Given the description of an element on the screen output the (x, y) to click on. 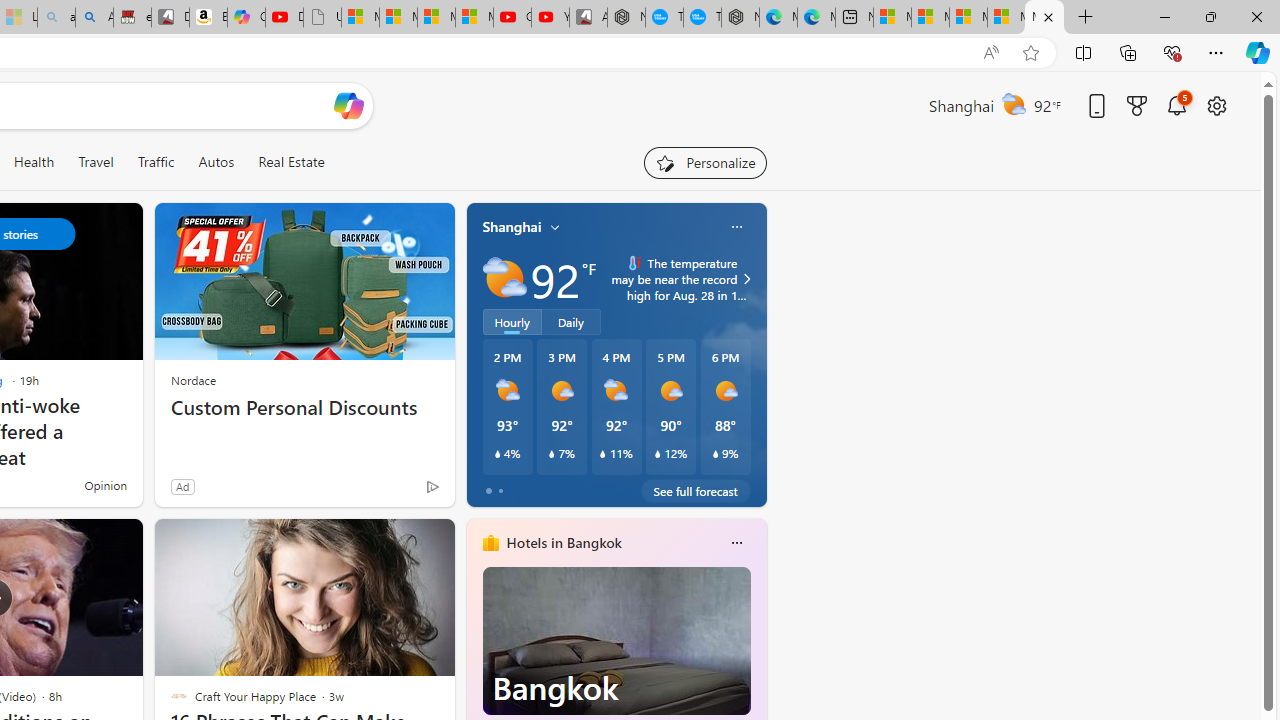
Hourly (511, 321)
Class: weather-arrow-glyph (746, 278)
Personalize your feed" (704, 162)
Class: weather-current-precipitation-glyph (715, 453)
